Given the description of an element on the screen output the (x, y) to click on. 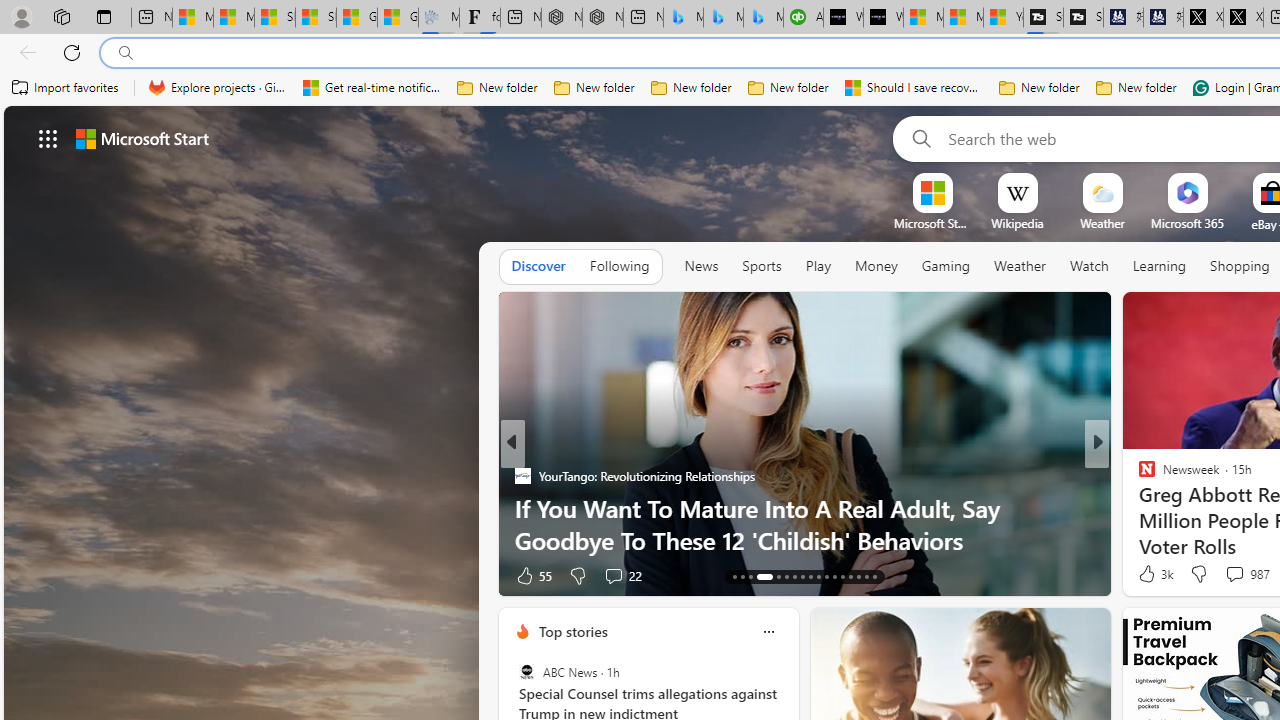
Top stories (572, 631)
AutomationID: tab-16 (757, 576)
Microsoft start (142, 138)
Should I save recovered Word documents? - Microsoft Support (913, 88)
CBS News (Video) (1138, 475)
View comments 174 Comment (1247, 574)
View comments 1 Comment (1229, 575)
AutomationID: tab-25 (842, 576)
69 Like (1149, 574)
View comments 22 Comment (1234, 575)
